Given the description of an element on the screen output the (x, y) to click on. 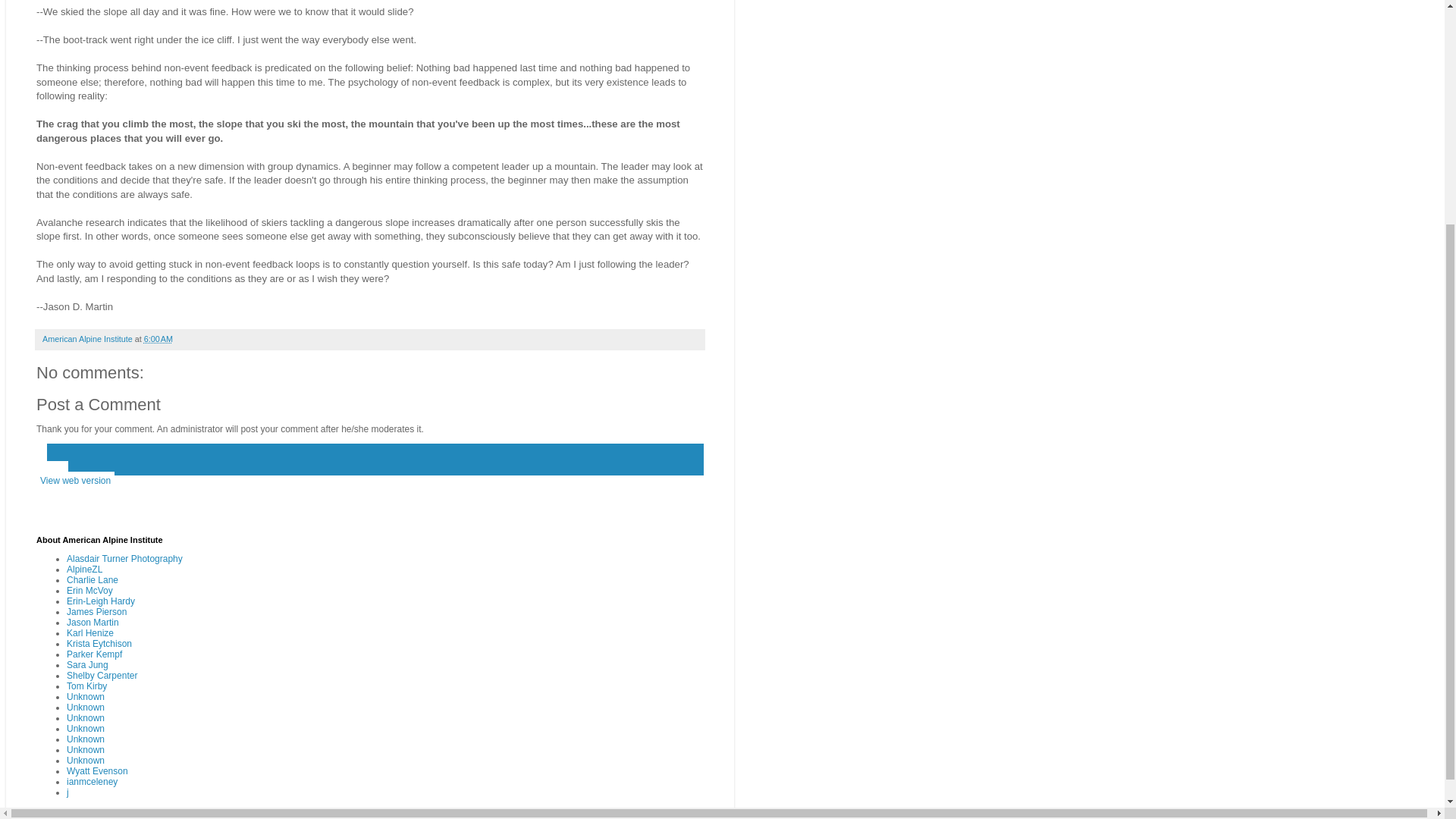
Erin-Leigh Hardy (100, 601)
American Alpine Institute (88, 338)
permanent link (158, 338)
ianmceleney (91, 781)
Unknown (85, 738)
Unknown (85, 749)
Unknown (85, 696)
Unknown (85, 760)
Krista Eytchison (99, 643)
Sara Jung (86, 665)
Jason Martin (92, 622)
Karl Henize (89, 633)
AlpineZL (83, 569)
author profile (88, 338)
